Given the description of an element on the screen output the (x, y) to click on. 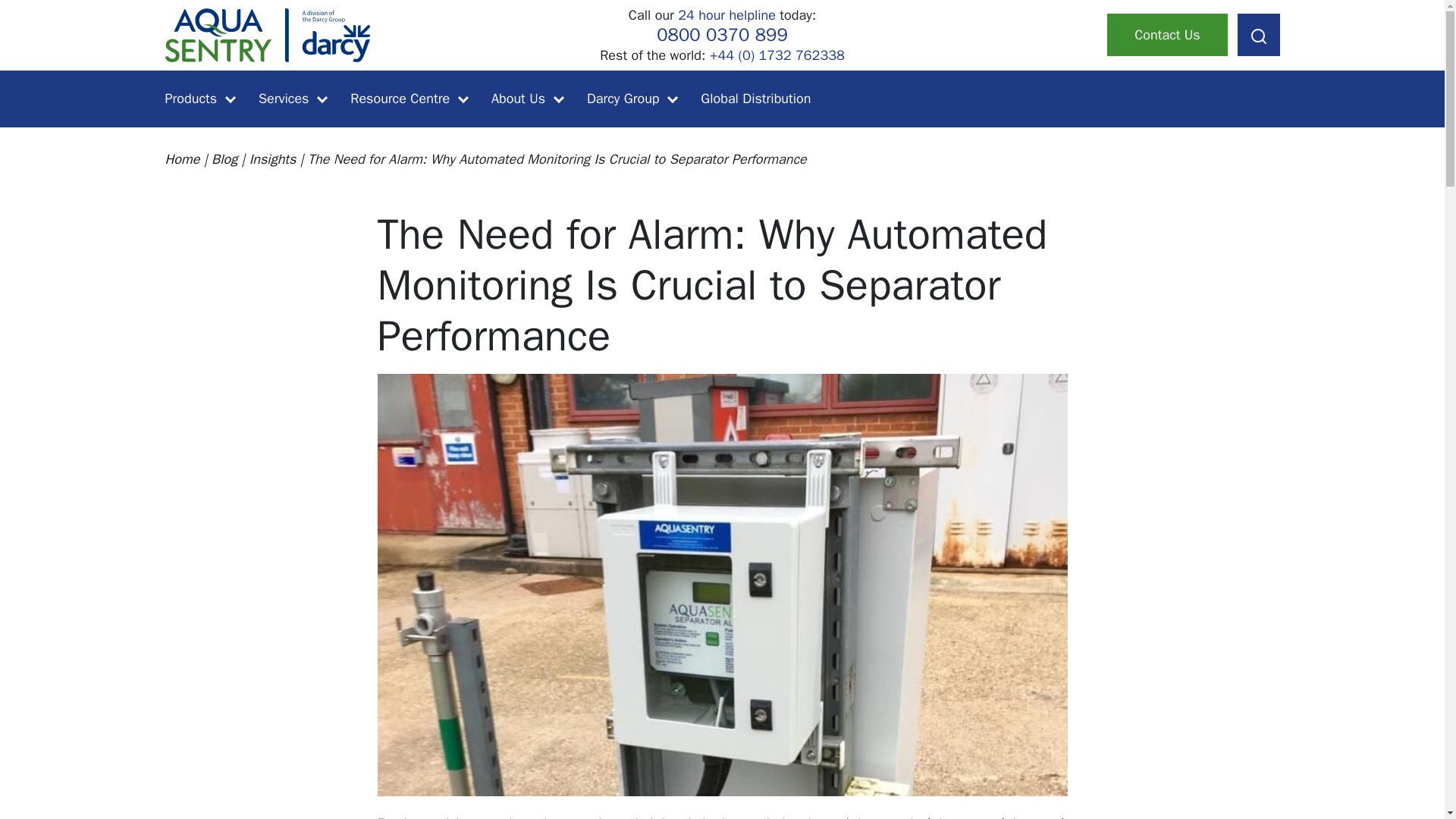
SearchIcon for search (1258, 36)
0800 0370 899 (721, 34)
Contact Us (1166, 34)
SearchIcon for search (1258, 34)
Aquasentry (268, 33)
Products (199, 98)
